Given the description of an element on the screen output the (x, y) to click on. 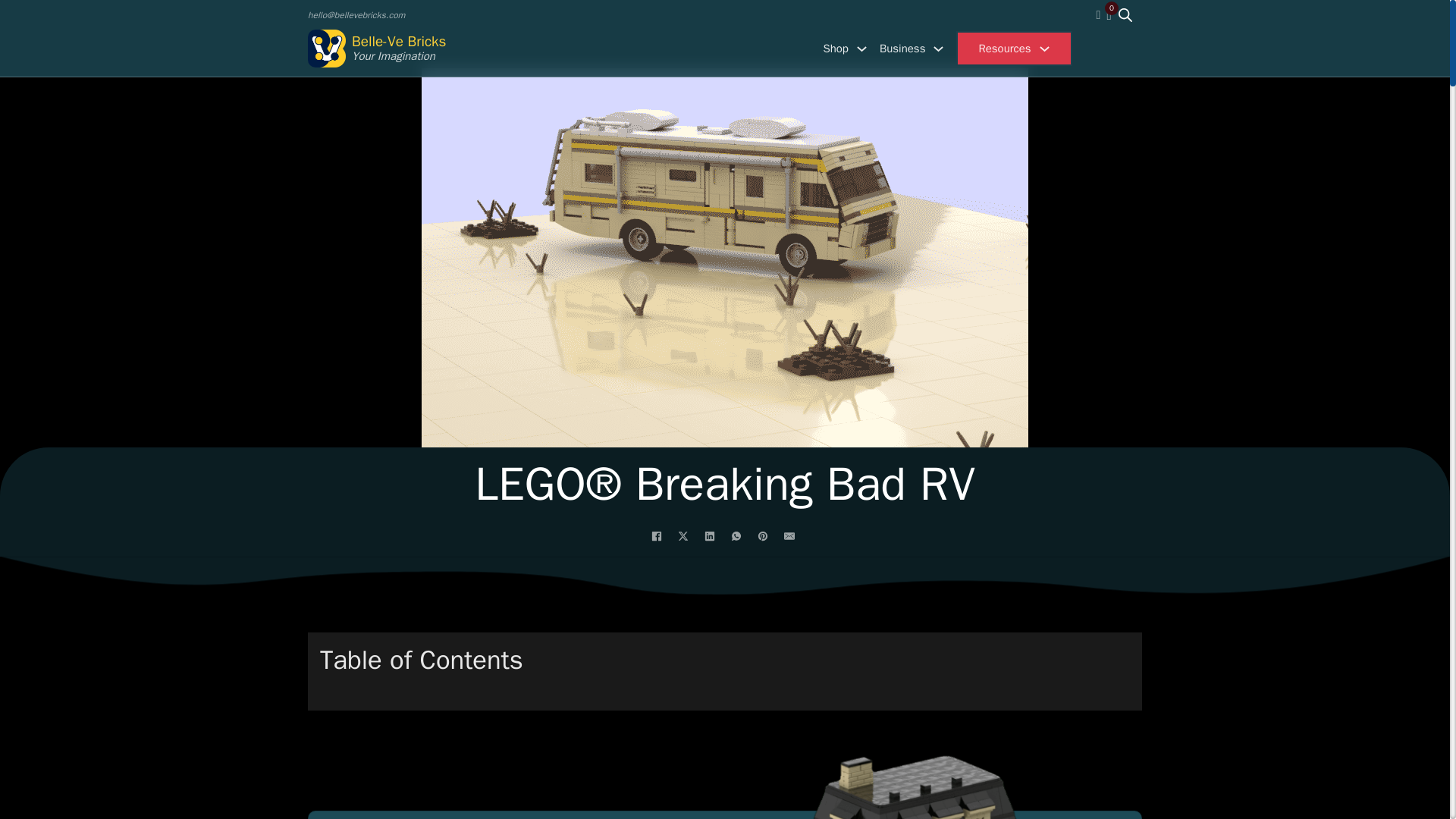
Resources (1004, 48)
Shop (835, 48)
Business (902, 48)
